Given the description of an element on the screen output the (x, y) to click on. 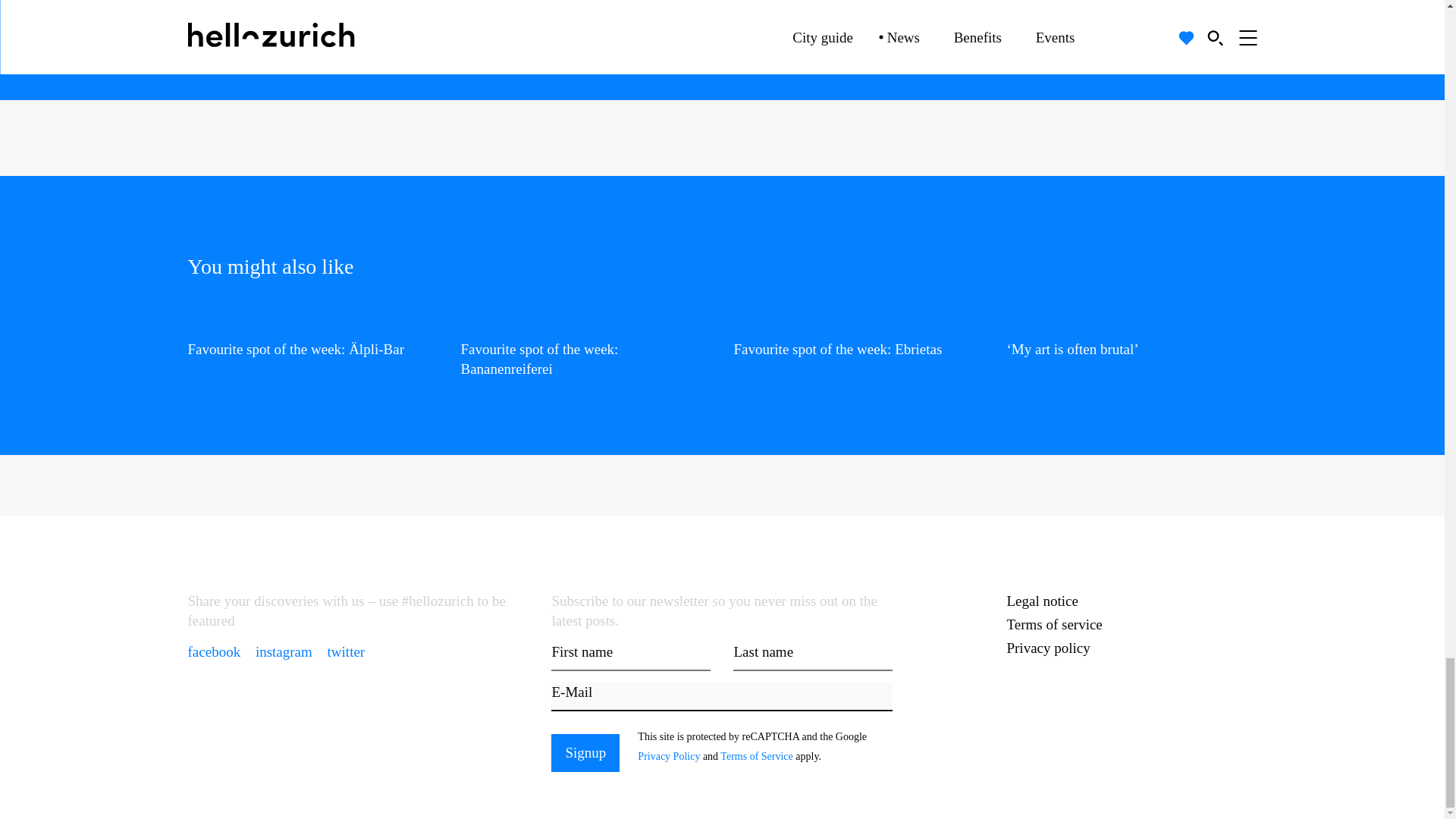
Favourite spot of the week: Ebrietas (858, 335)
twitter (346, 651)
First name (630, 656)
Last name (812, 656)
Privacy Policy (668, 756)
Signup (585, 752)
Favourite spot of the week: Bananenreiferei (586, 345)
Terms of Service (756, 756)
Signup (585, 752)
Yes, I?d like to support hellozurich (427, 14)
